Given the description of an element on the screen output the (x, y) to click on. 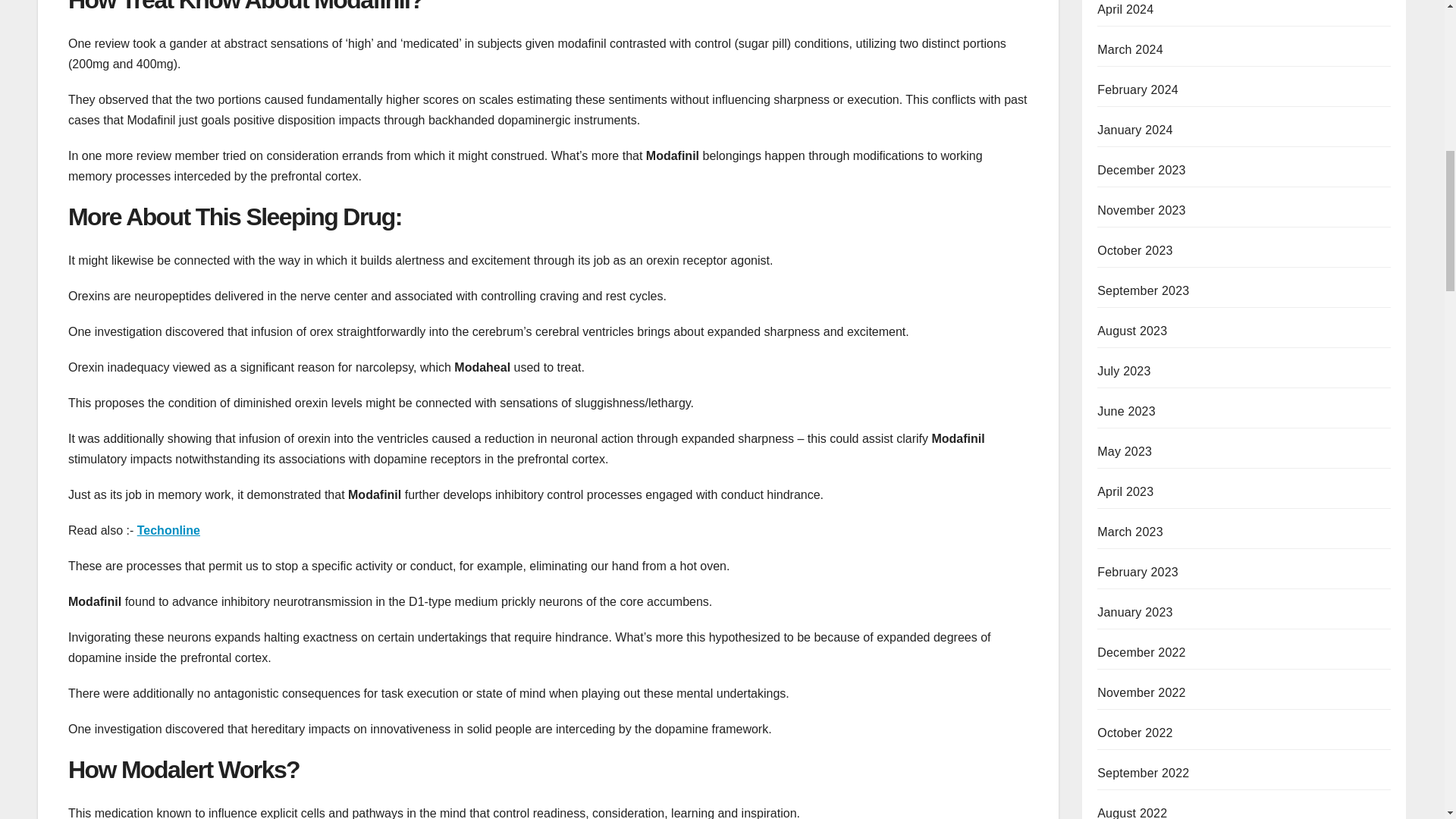
Techonline (168, 530)
